Given the description of an element on the screen output the (x, y) to click on. 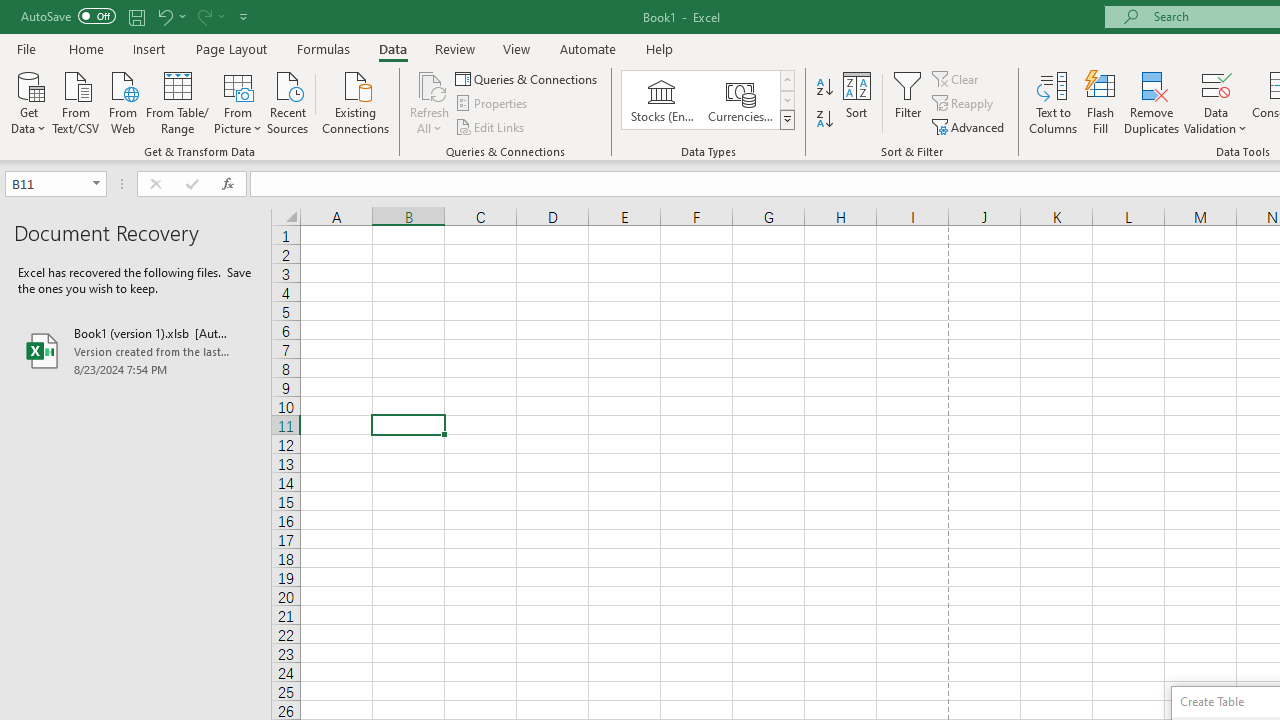
From Picture (238, 101)
From Table/Range (177, 101)
Stocks (English) (662, 100)
From Text/CSV (75, 101)
Queries & Connections (527, 78)
